Given the description of an element on the screen output the (x, y) to click on. 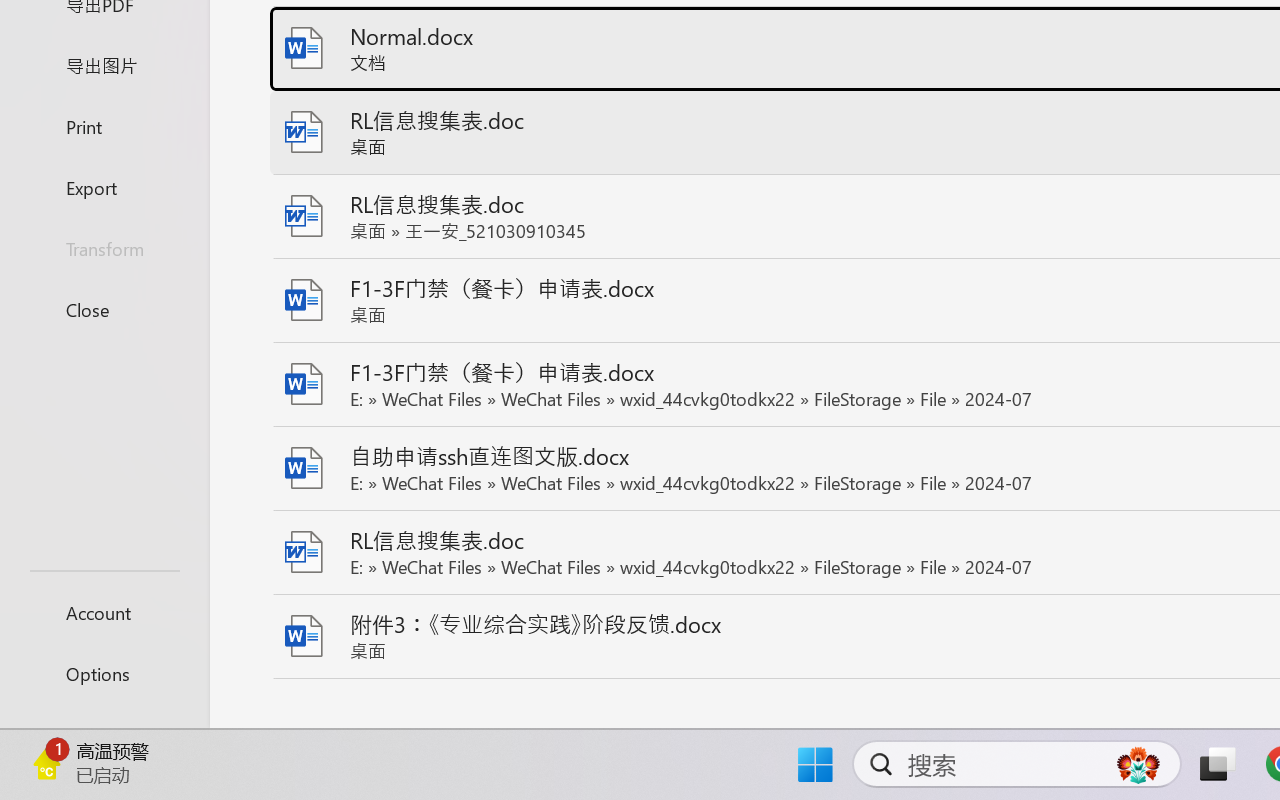
Options (104, 673)
Export (104, 186)
Account (104, 612)
Transform (104, 248)
Print (104, 126)
